Given the description of an element on the screen output the (x, y) to click on. 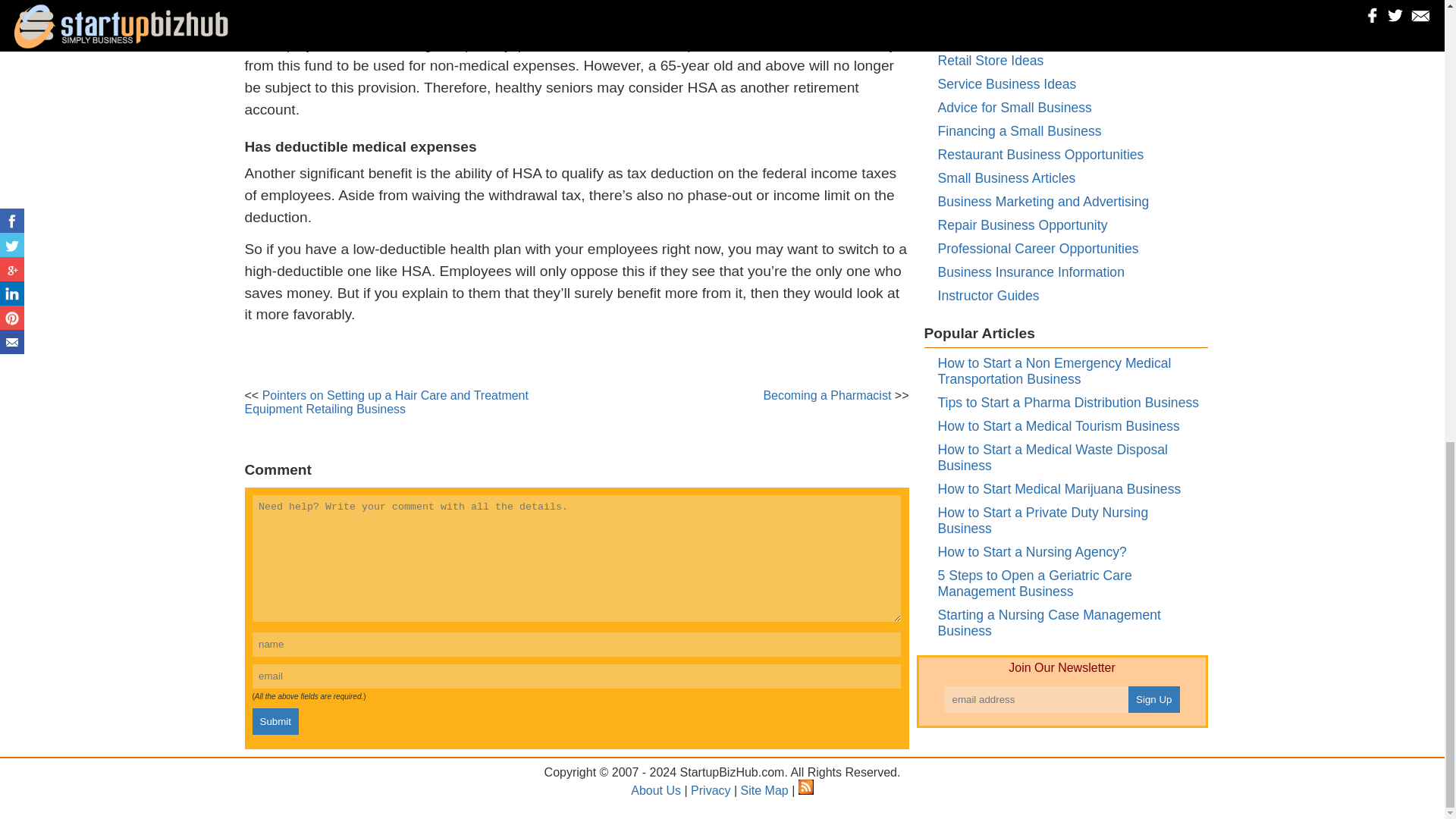
Retail Store Ideas (990, 60)
Store Business Opportunities (1023, 13)
Sign Up (1153, 699)
Service Business Ideas (1006, 83)
Becoming a Pharmacist (826, 395)
Submit (274, 721)
Submit (274, 721)
Entrepreneur Business Idea (1019, 37)
